Given the description of an element on the screen output the (x, y) to click on. 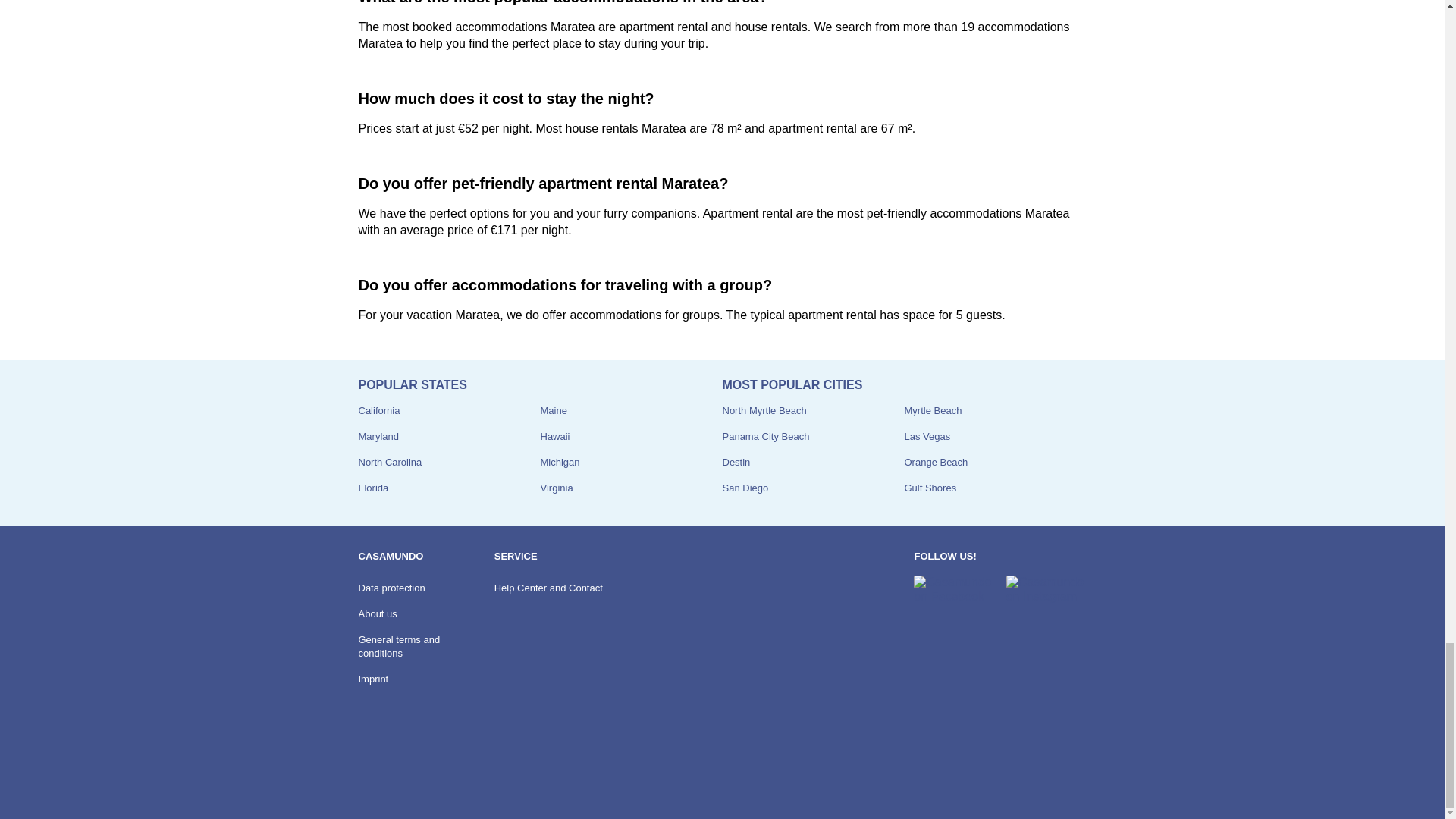
California (378, 410)
Florida (373, 487)
Hawaii (554, 436)
Michigan (559, 461)
Maine (553, 410)
Maryland (377, 436)
Casamundo on Instagram (1046, 589)
Casamundo on Facebook (953, 589)
Virginia (556, 487)
Book holiday homes and apartments - Casamundo (399, 776)
